Given the description of an element on the screen output the (x, y) to click on. 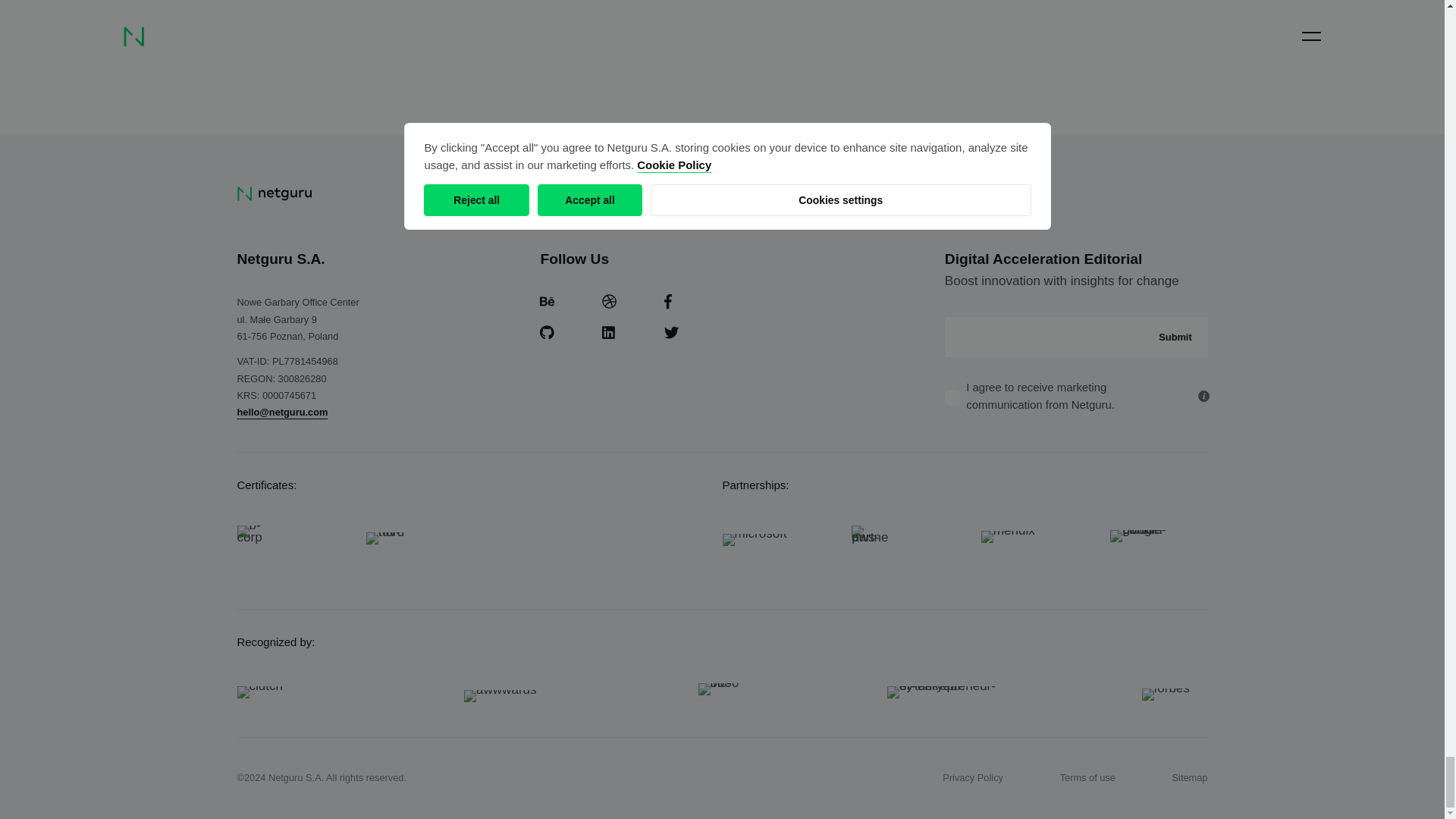
Submit (1174, 336)
